Given the description of an element on the screen output the (x, y) to click on. 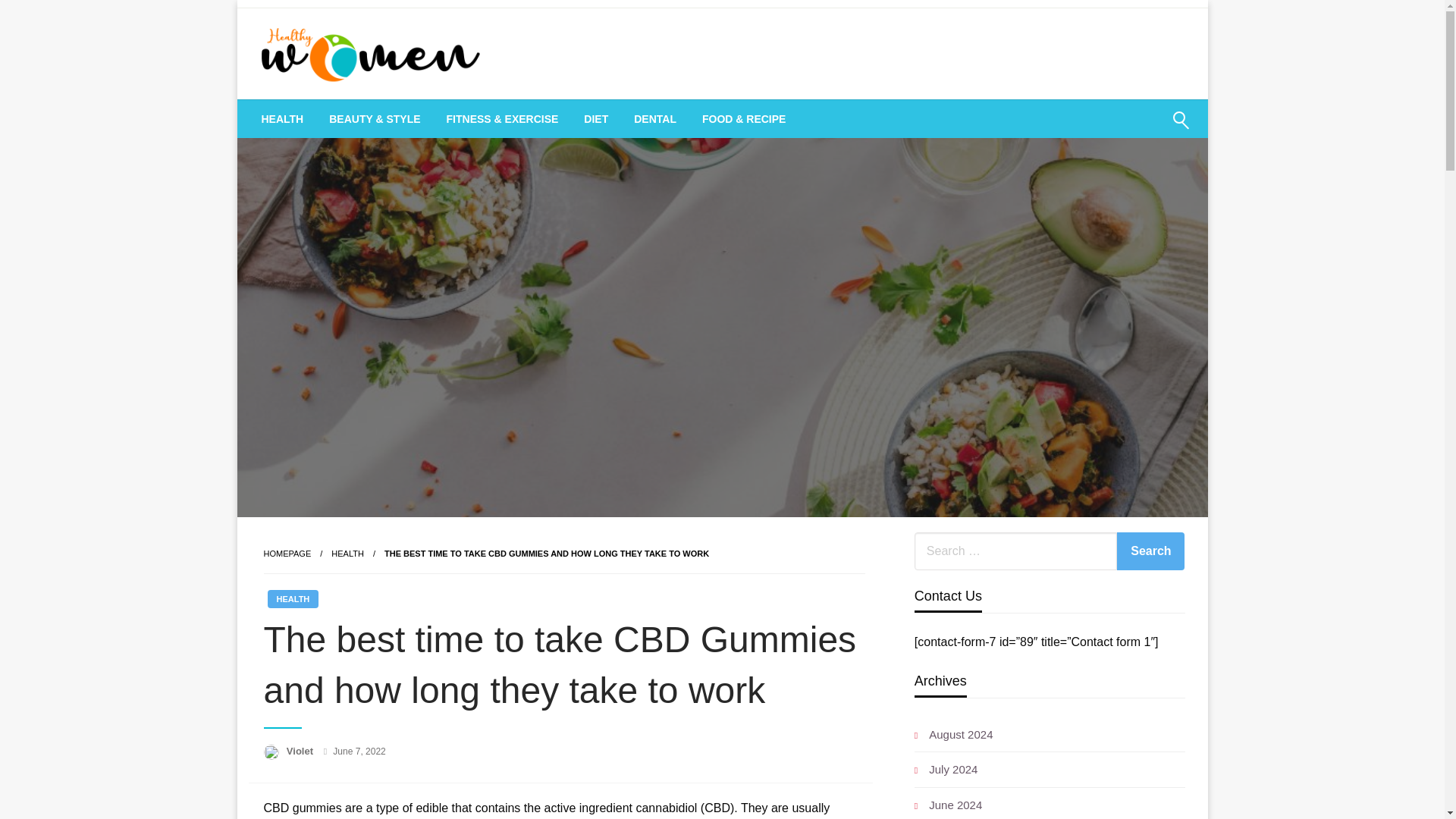
Healthy Women X (378, 118)
Search (1144, 129)
June 7, 2022 (359, 751)
HEALTH (282, 118)
DENTAL (654, 118)
Health (347, 552)
Search (1150, 551)
Violet (300, 750)
Homepage (287, 552)
HOMEPAGE (287, 552)
